Given the description of an element on the screen output the (x, y) to click on. 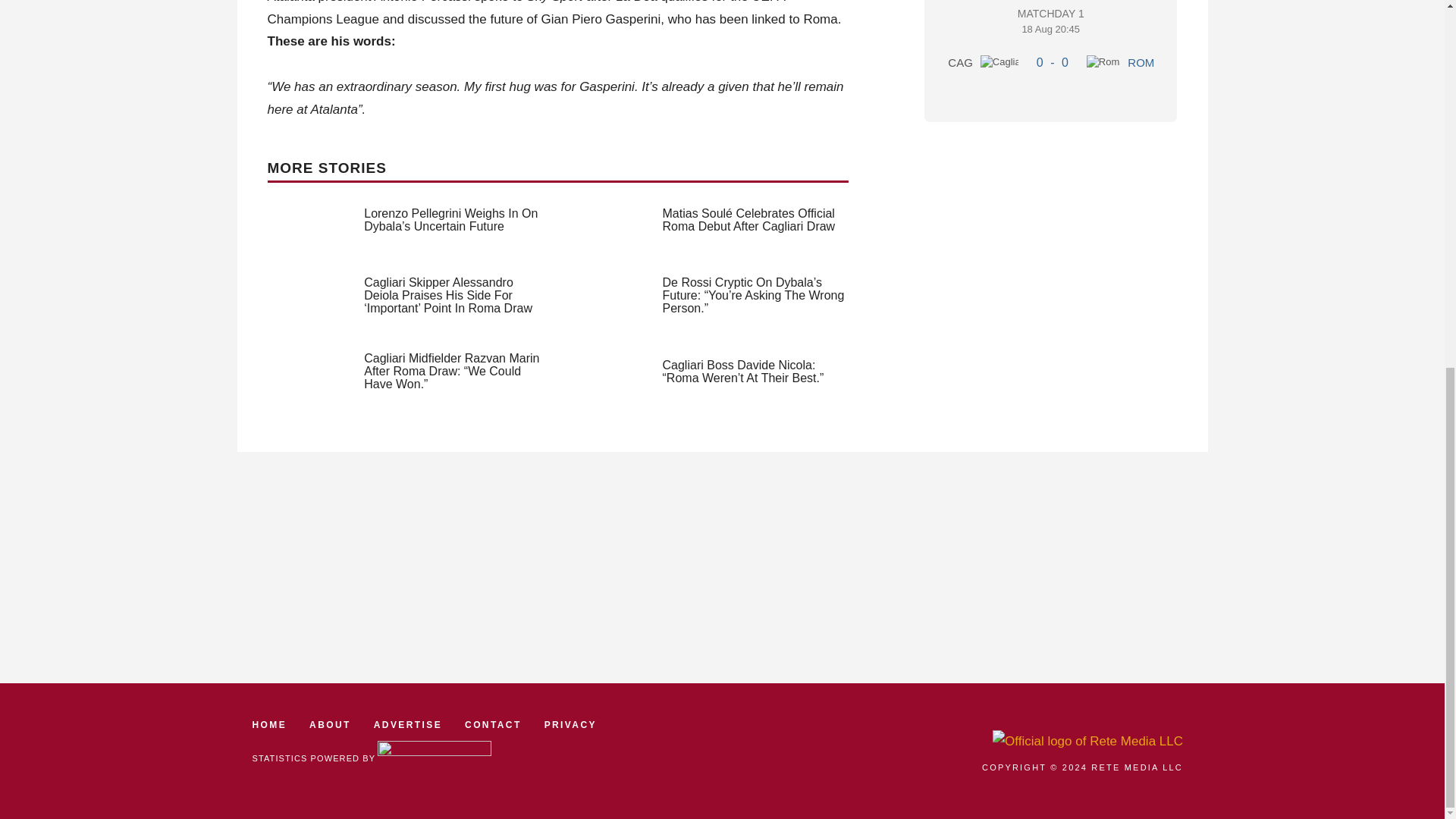
Cagliari (998, 61)
Roma (1103, 61)
0 - 0 (1052, 62)
PRIVACY (1050, 44)
ROM (570, 725)
ABOUT (1140, 62)
CONTACT (329, 725)
HOME (492, 725)
ADVERTISE (268, 725)
